Given the description of an element on the screen output the (x, y) to click on. 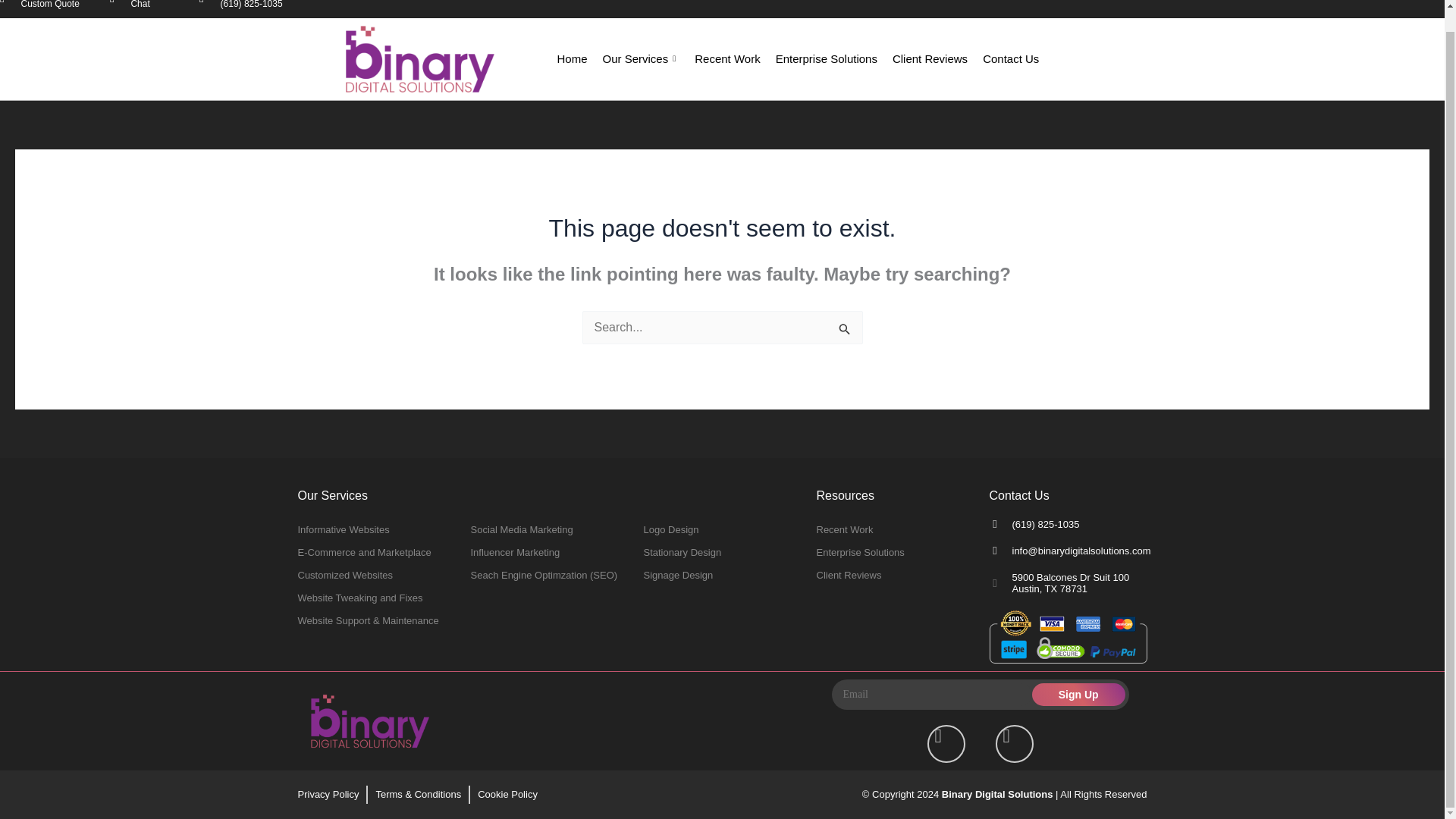
Facebook (946, 743)
Recent Work (727, 58)
Enterprise Solutions (894, 552)
Customized Websites (139, 4)
Recent Work (375, 575)
Contact Us (894, 529)
Enterprise Solutions (1010, 58)
Our Services (826, 58)
Logo Design (640, 58)
Client Reviews (721, 529)
Sign Up (894, 575)
Signage Design (1078, 694)
Social Media Marketing (721, 575)
Website Tweaking and Fixes (548, 529)
